Given the description of an element on the screen output the (x, y) to click on. 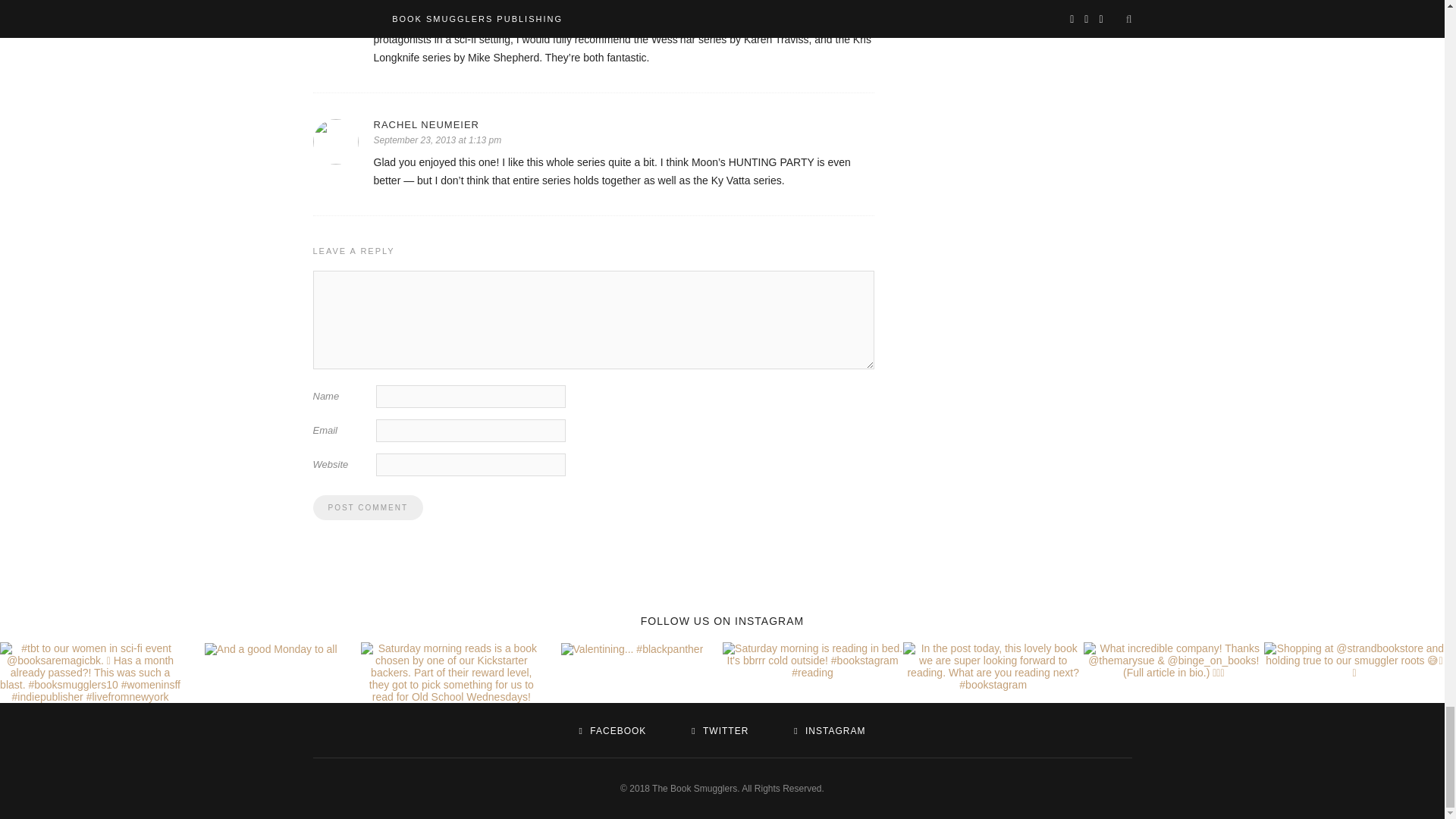
Post Comment (367, 507)
And a good Monday to all (271, 648)
